Given the description of an element on the screen output the (x, y) to click on. 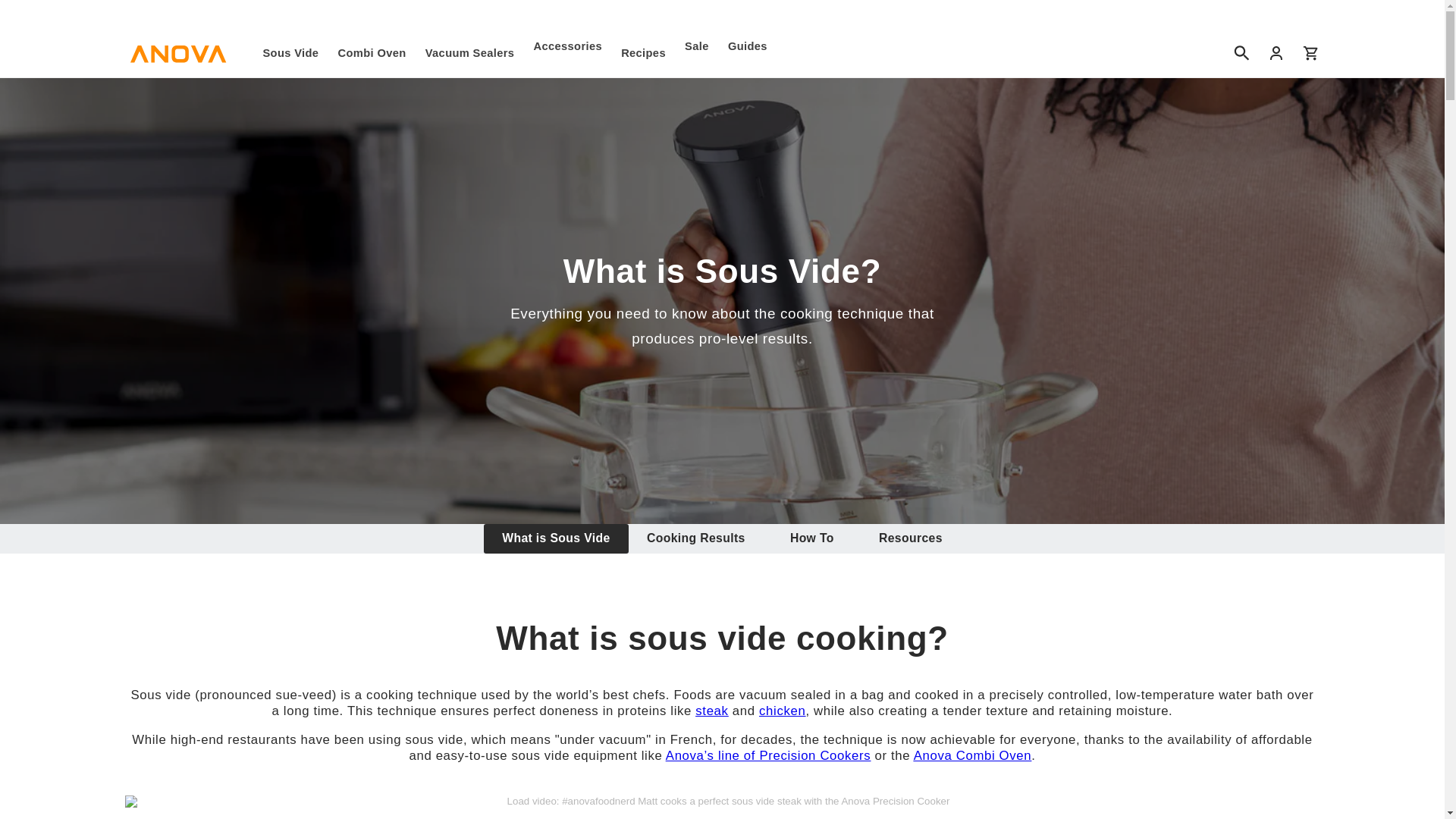
Sous Vide (291, 53)
Skip to content (721, 538)
